Given the description of an element on the screen output the (x, y) to click on. 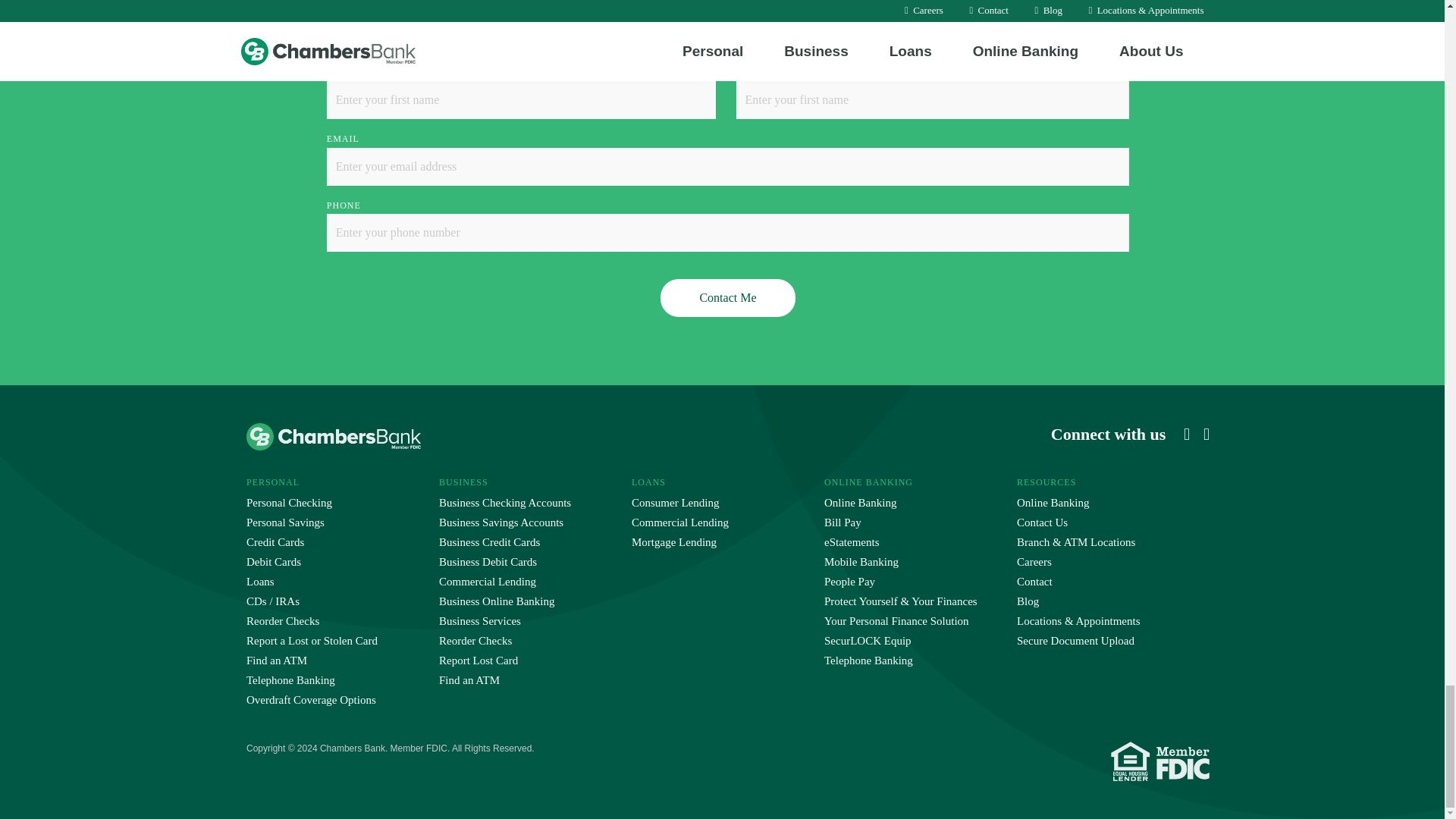
Contact Me (727, 297)
